Given the description of an element on the screen output the (x, y) to click on. 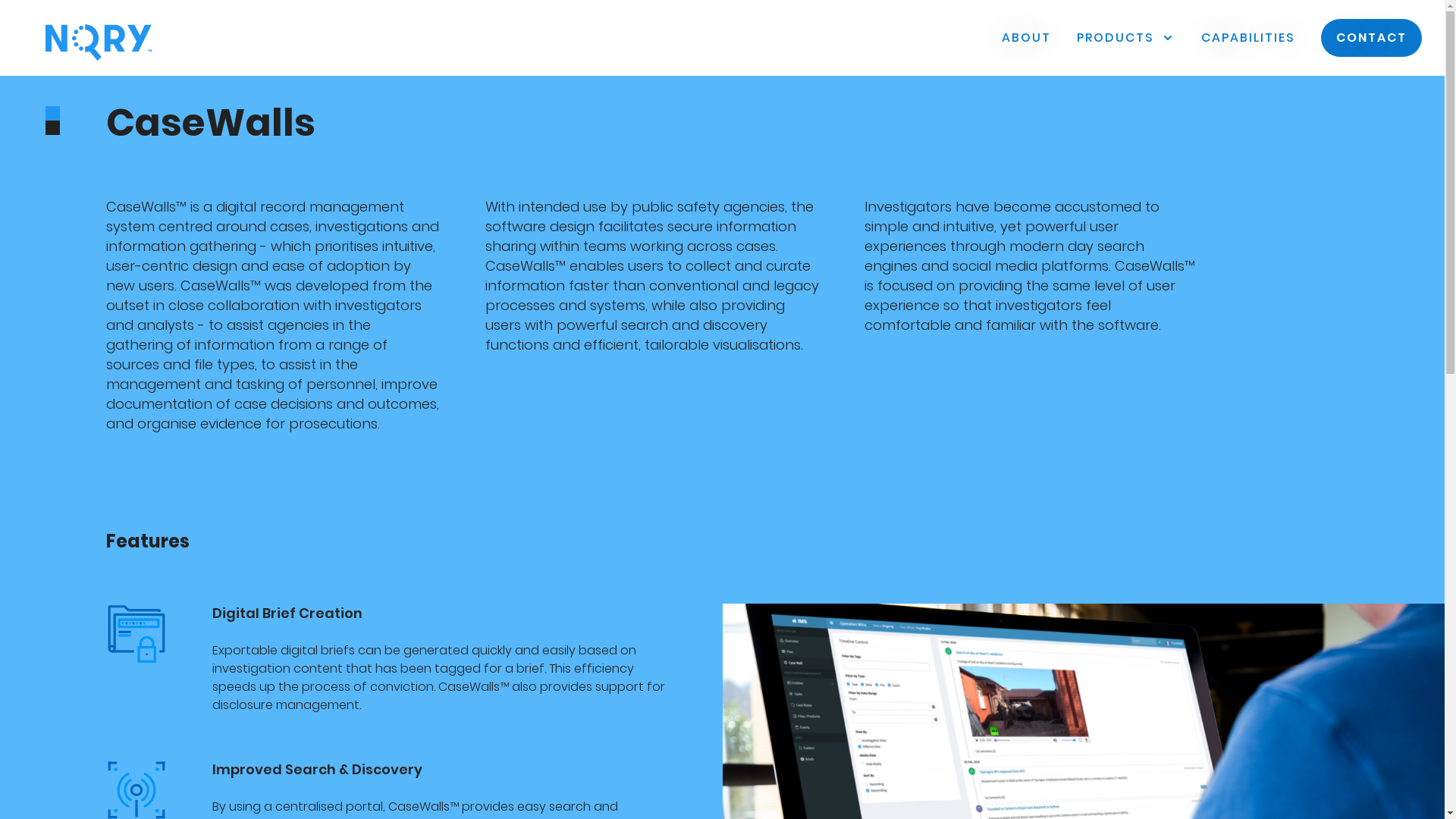
ABOUT Element type: text (1026, 37)
CONTACT Element type: text (1371, 37)
CAPABILITIES Element type: text (1248, 37)
Home Element type: hover (98, 42)
